Given the description of an element on the screen output the (x, y) to click on. 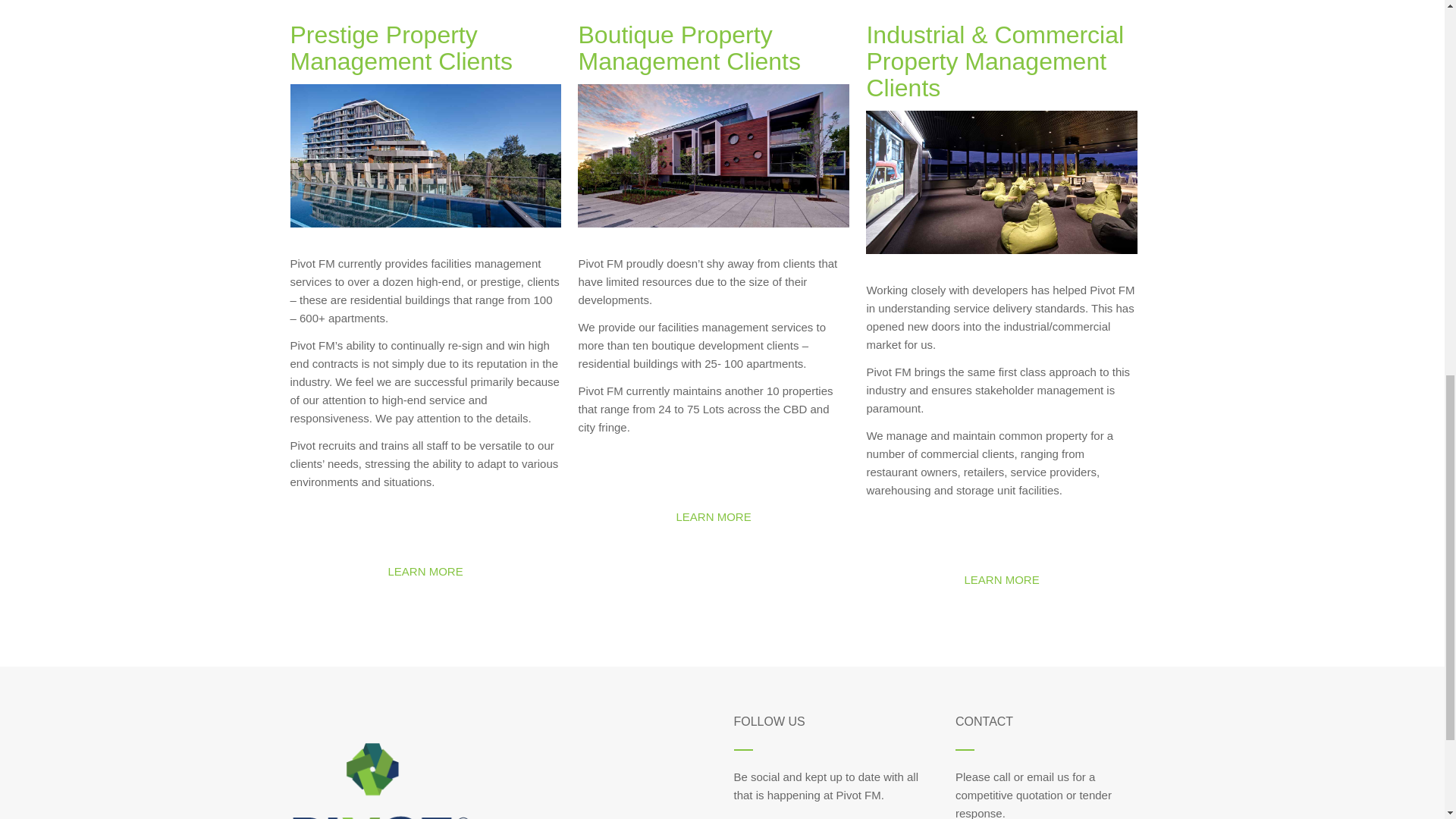
LEARN MORE (1001, 579)
LEARN MORE (424, 571)
Boutique Property Management Clients (688, 48)
Prestige Property Management Clients (400, 48)
LEARN MORE (713, 516)
